Given the description of an element on the screen output the (x, y) to click on. 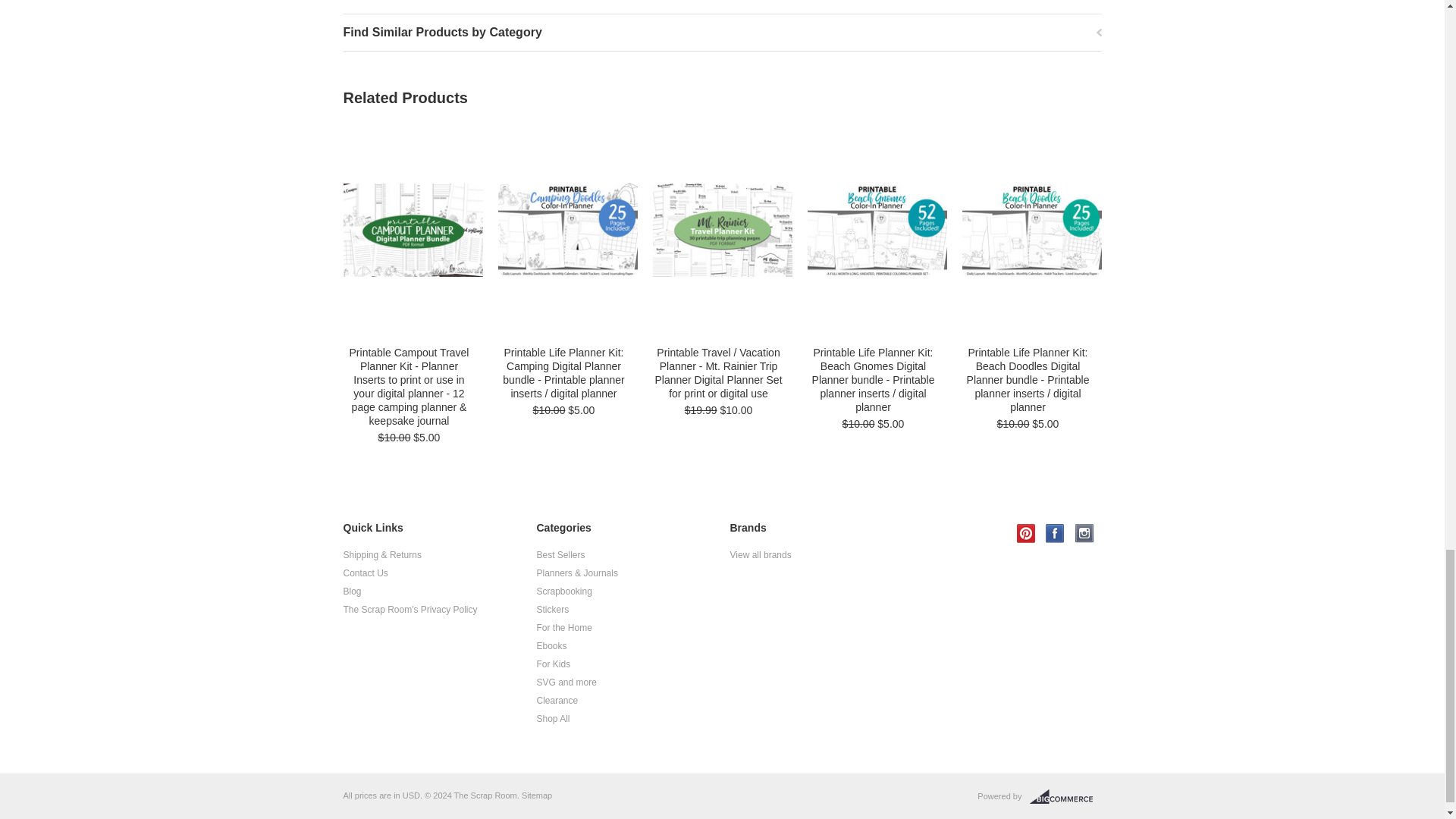
Instagram (1084, 533)
Pinterest (1025, 533)
Facebook (1054, 533)
US Dollars (411, 795)
